Given the description of an element on the screen output the (x, y) to click on. 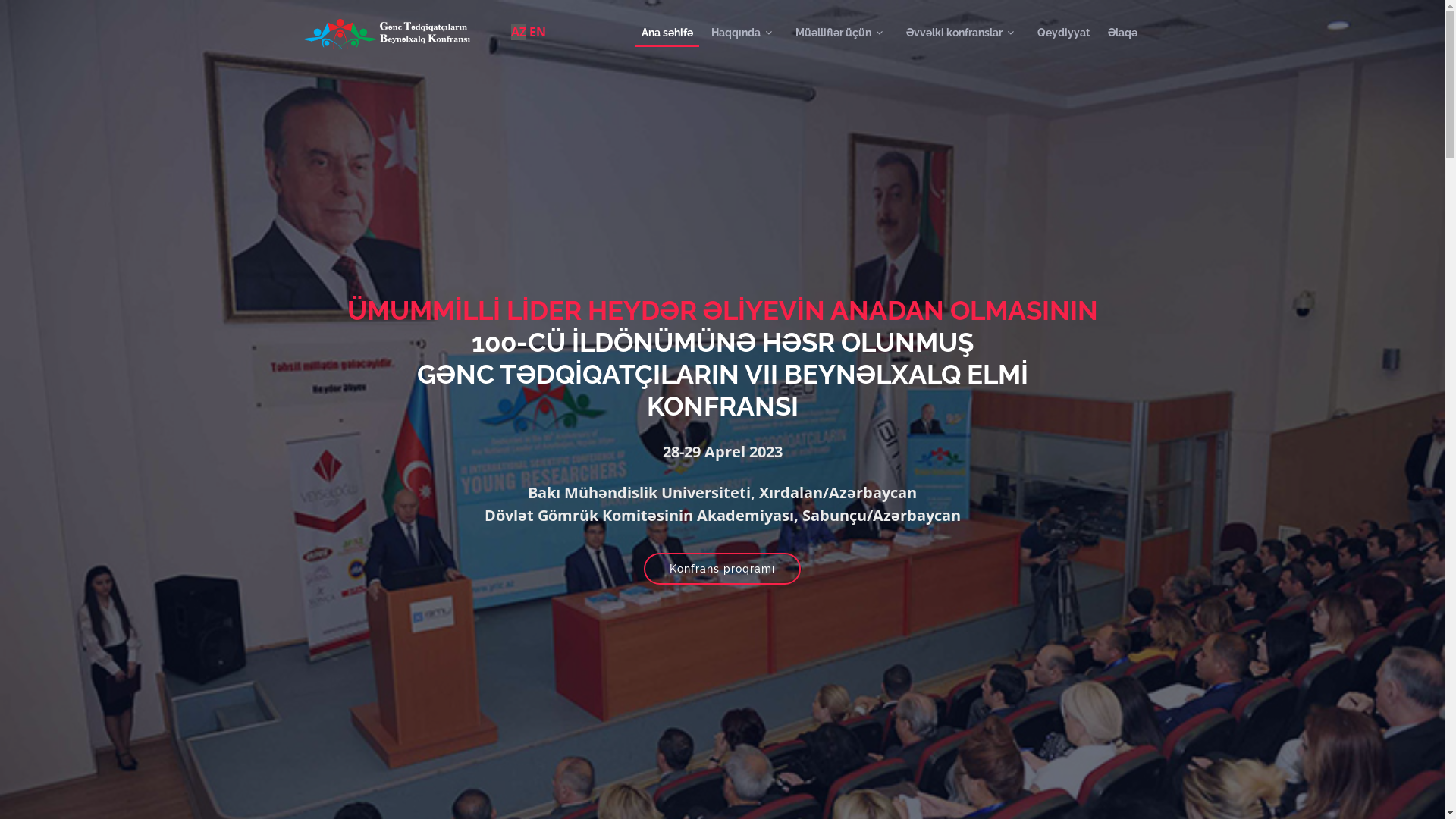
EN Element type: text (537, 31)
AZ Element type: text (518, 31)
Qeydiyyat Element type: text (1063, 32)
